Given the description of an element on the screen output the (x, y) to click on. 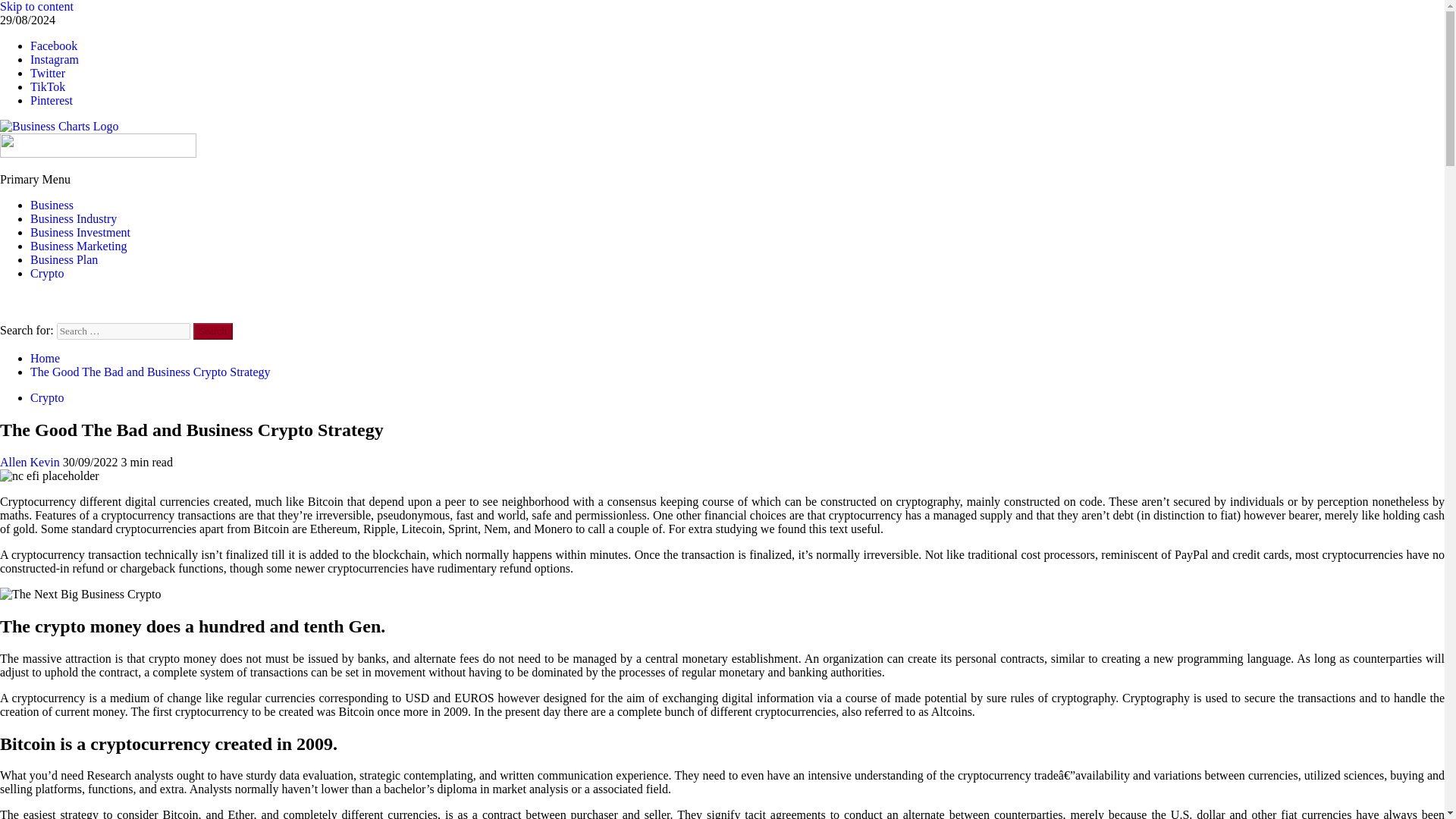
Business (52, 205)
Business Marketing (79, 245)
Search (212, 330)
Business Plan (63, 259)
Allen Kevin (31, 461)
The Good The Bad and Business Crypto Strategy (150, 371)
Pinterest (51, 100)
Business Industry (73, 218)
Crypto (47, 273)
Primary Menu (34, 178)
